Given the description of an element on the screen output the (x, y) to click on. 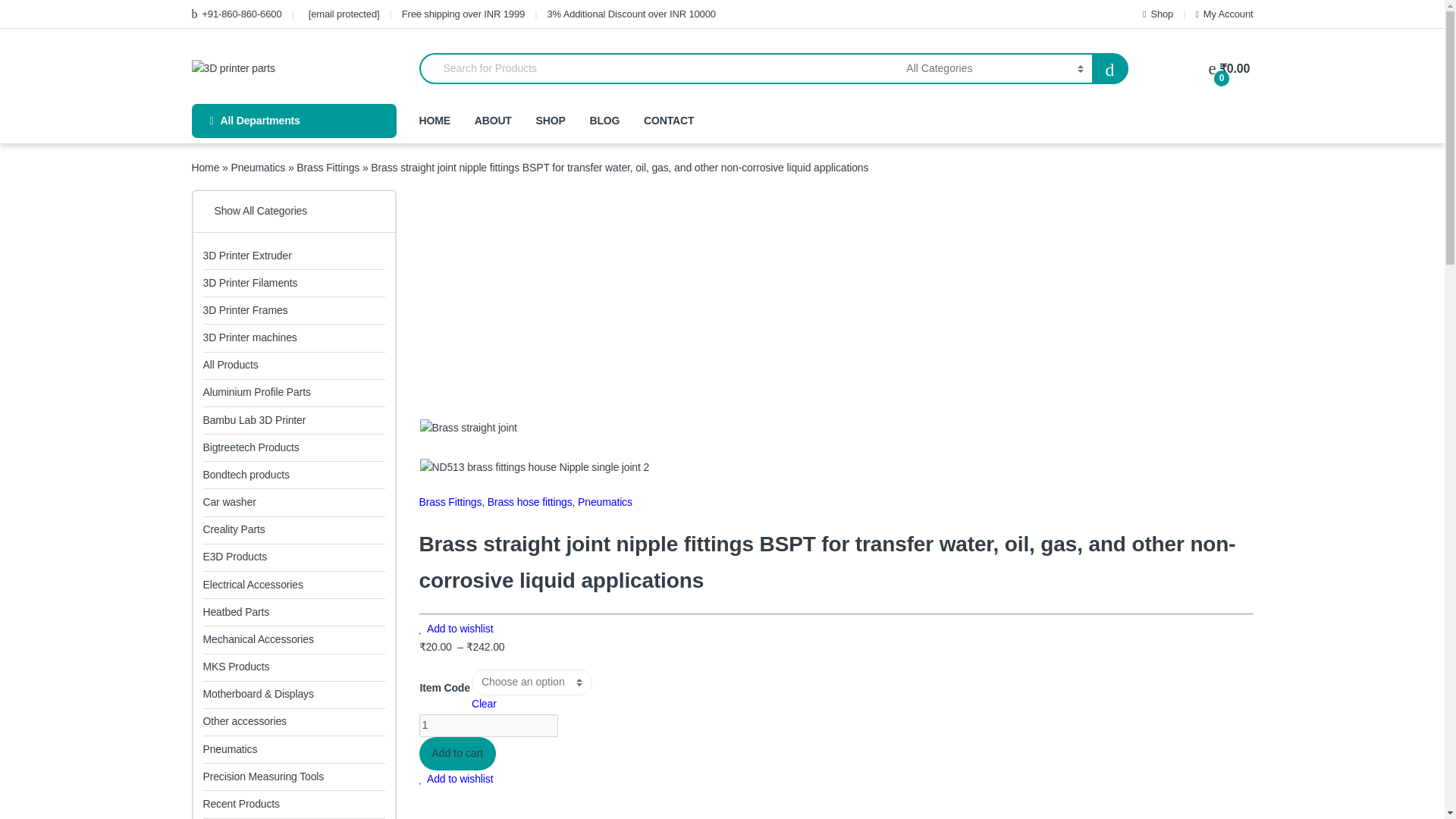
Free shipping over INR 1999 (462, 13)
My Account (1223, 13)
1 (488, 725)
Free shipping over INR 1999 (462, 13)
Shop (1157, 13)
Shop (1157, 13)
My Account (1223, 13)
